Given the description of an element on the screen output the (x, y) to click on. 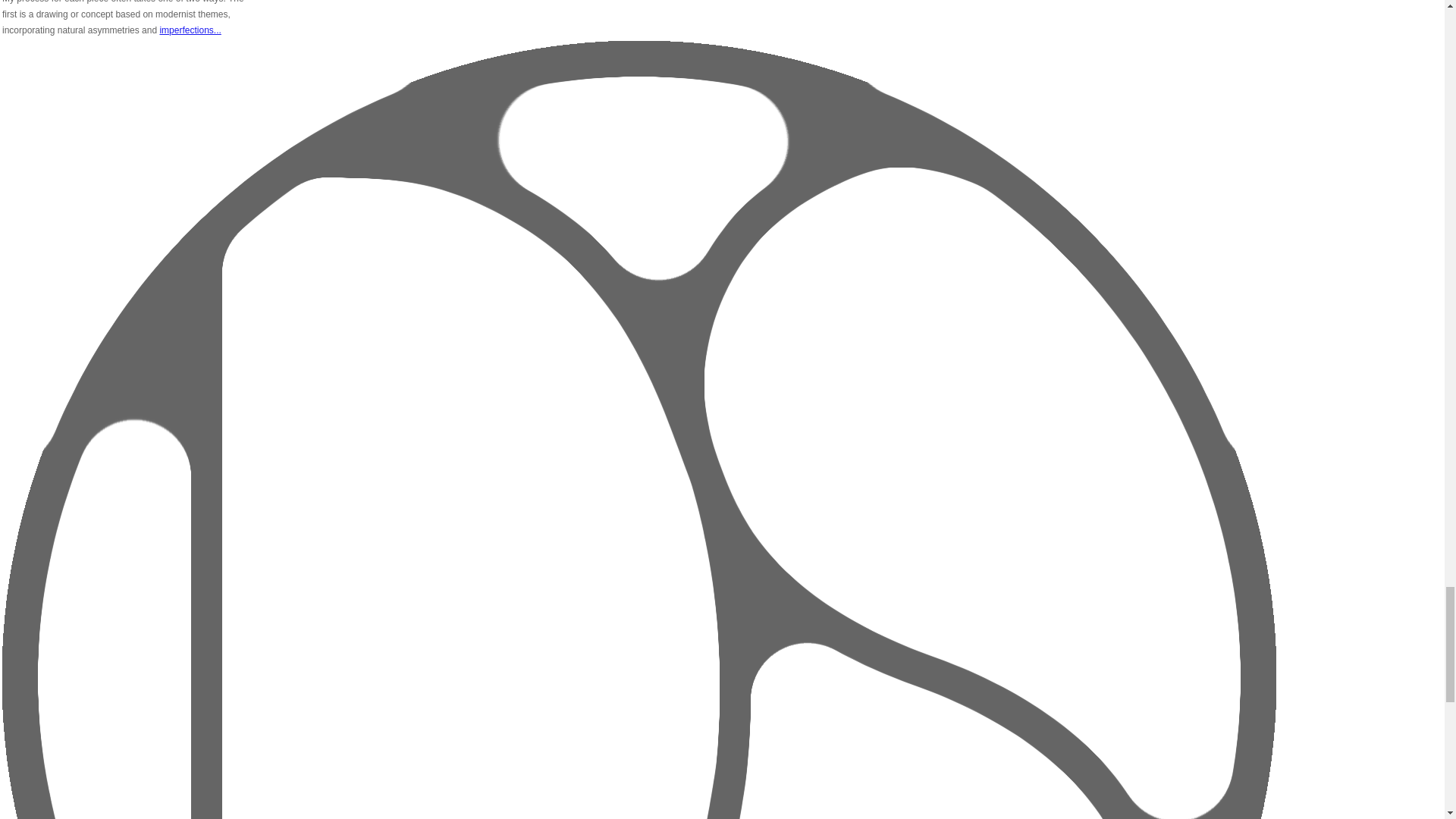
imperfections... (189, 30)
